Given the description of an element on the screen output the (x, y) to click on. 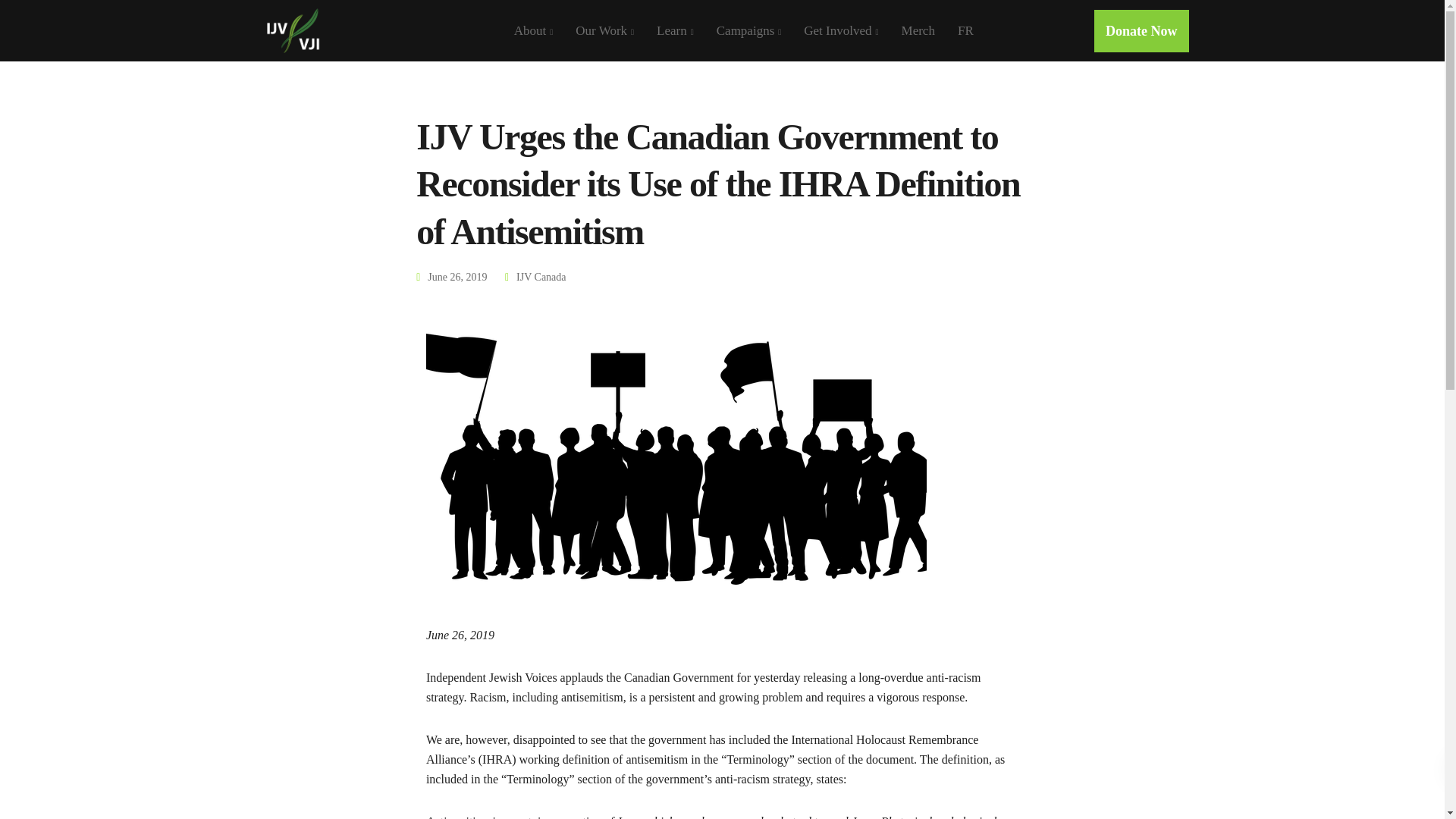
Get Involved (840, 30)
Donate Now (1141, 30)
Campaigns (748, 30)
Campaigns (748, 30)
Learn (674, 30)
Merch (917, 30)
About (533, 30)
Learn (674, 30)
Our Work (604, 30)
Our Work (604, 30)
